Given the description of an element on the screen output the (x, y) to click on. 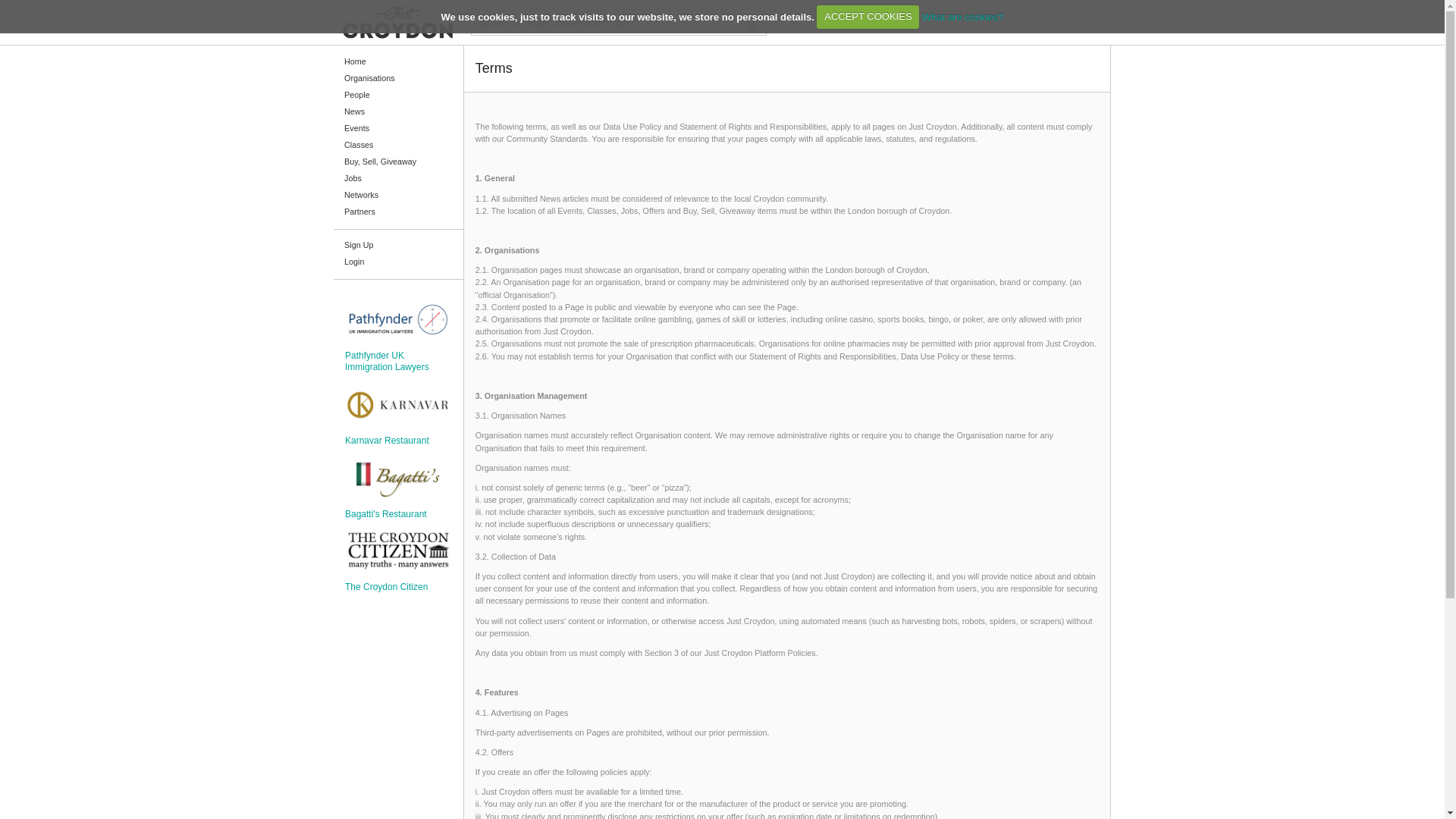
Home (85, 103)
People (398, 95)
Login (398, 262)
Classes (398, 145)
Bagatti's Restaurant (84, 529)
Classes (85, 224)
Jobs (85, 273)
Login (85, 370)
The Croydon Citizen (84, 569)
Karnavar Restaurant (84, 418)
